Given the description of an element on the screen output the (x, y) to click on. 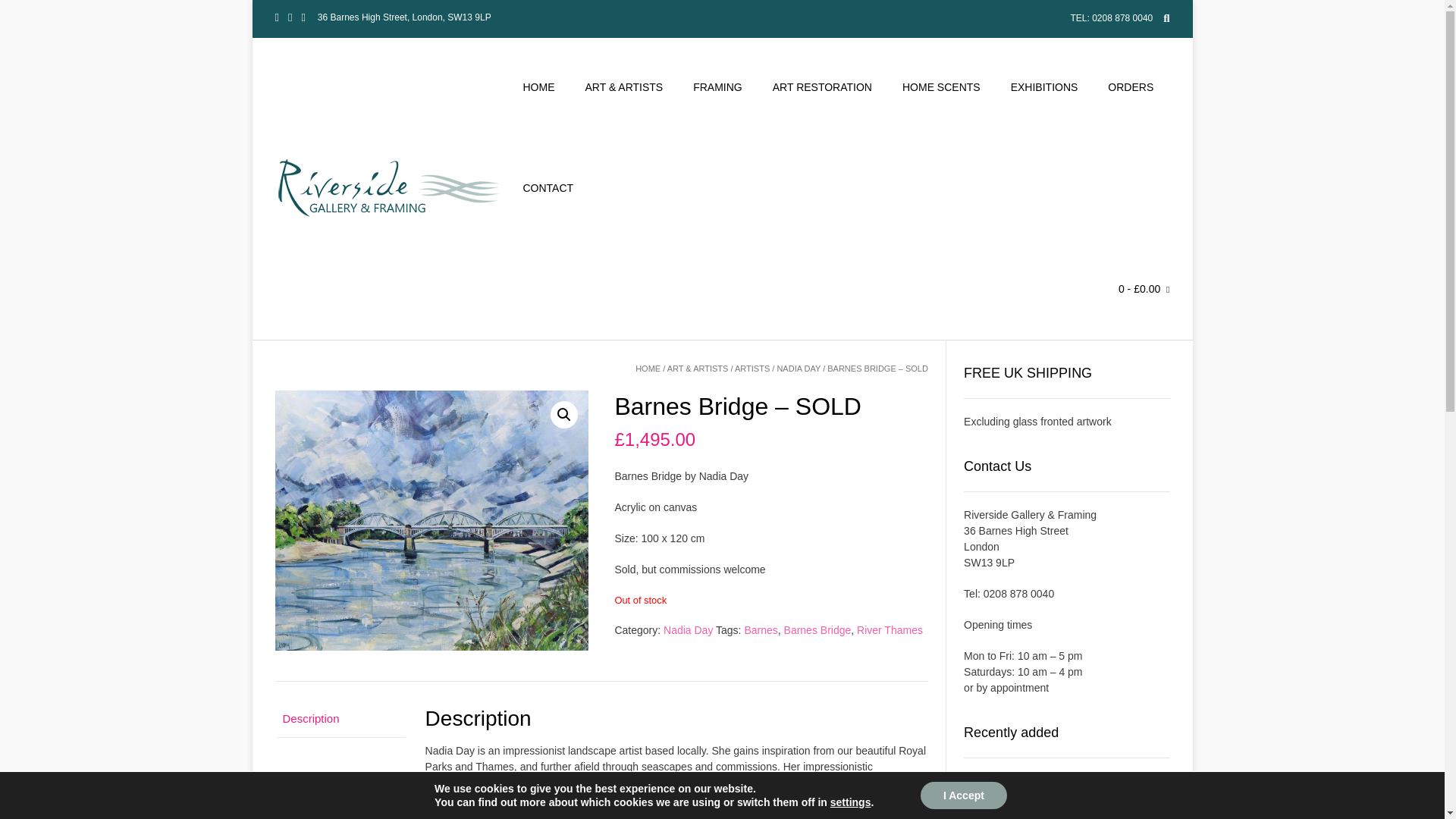
ART RESTORATION (821, 87)
Jim (1039, 780)
HOME (647, 368)
Description (339, 718)
Barnes Bridge (431, 520)
NADIA DAY (798, 368)
HOME SCENTS (940, 87)
Barnes (760, 630)
Barnes Bridge (817, 630)
Nadia Day (688, 630)
ARTISTS (752, 368)
EXHIBITIONS (1044, 87)
River Thames (890, 630)
